Given the description of an element on the screen output the (x, y) to click on. 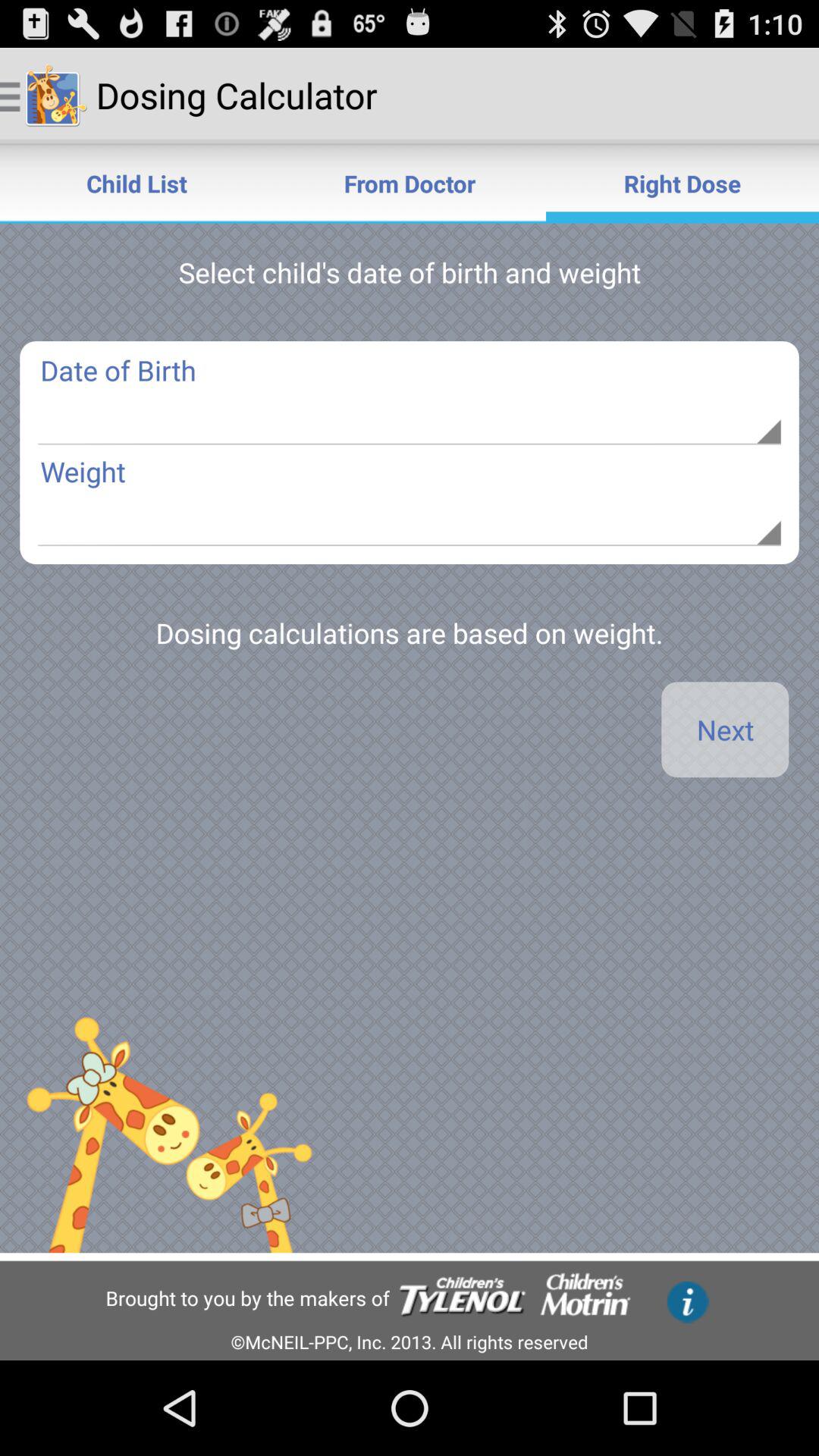
turn off item next to the from doctor icon (682, 183)
